Given the description of an element on the screen output the (x, y) to click on. 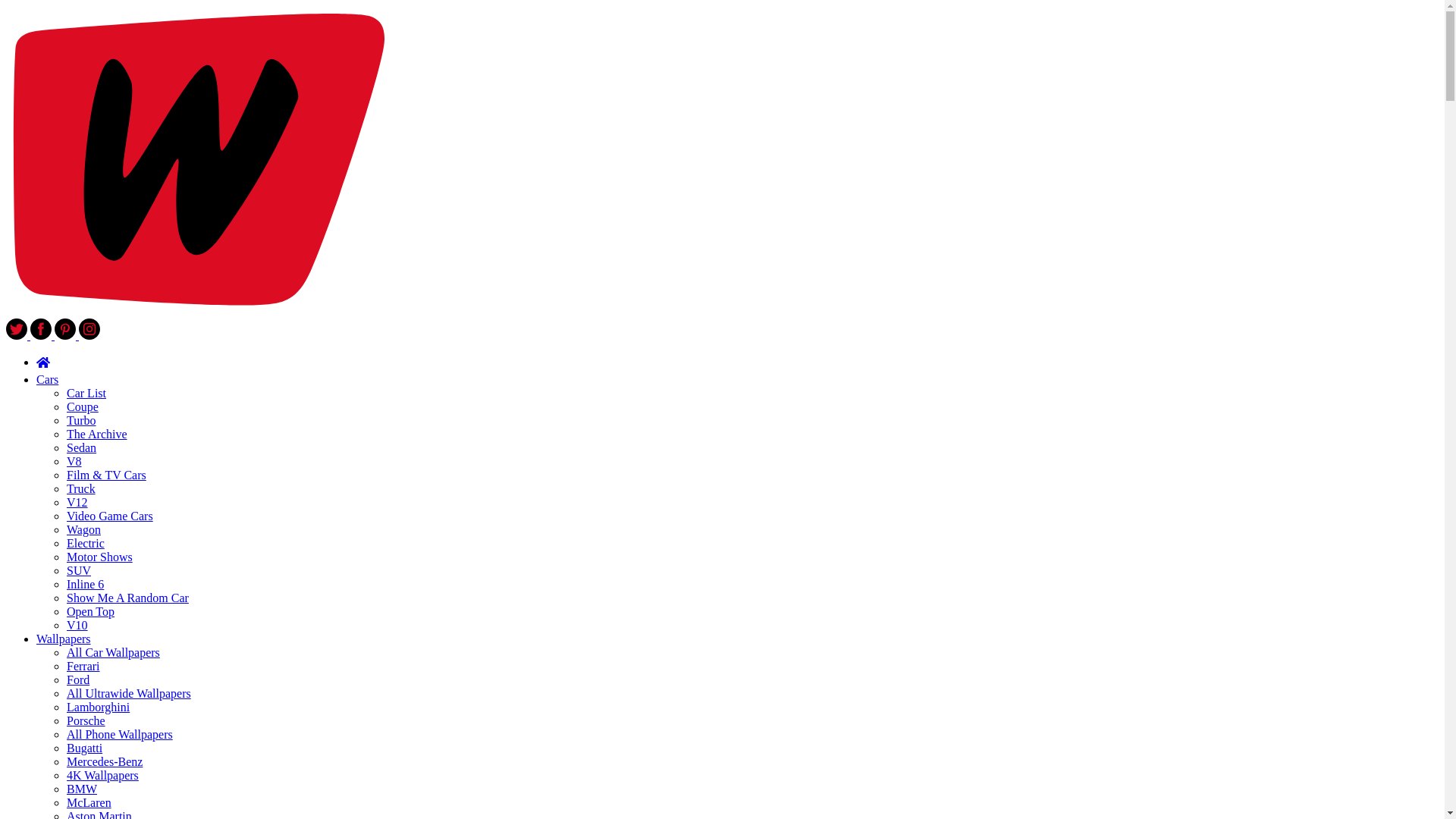
We are now on Instagram (89, 335)
The Archive (97, 433)
Sedan (81, 447)
Wagon (83, 529)
Check out our pins on Pinterest (66, 335)
Porsche (85, 720)
All Car Wallpapers (113, 652)
4K Wallpapers (102, 775)
Aston Martin (99, 814)
Inline 6 (84, 584)
